Given the description of an element on the screen output the (x, y) to click on. 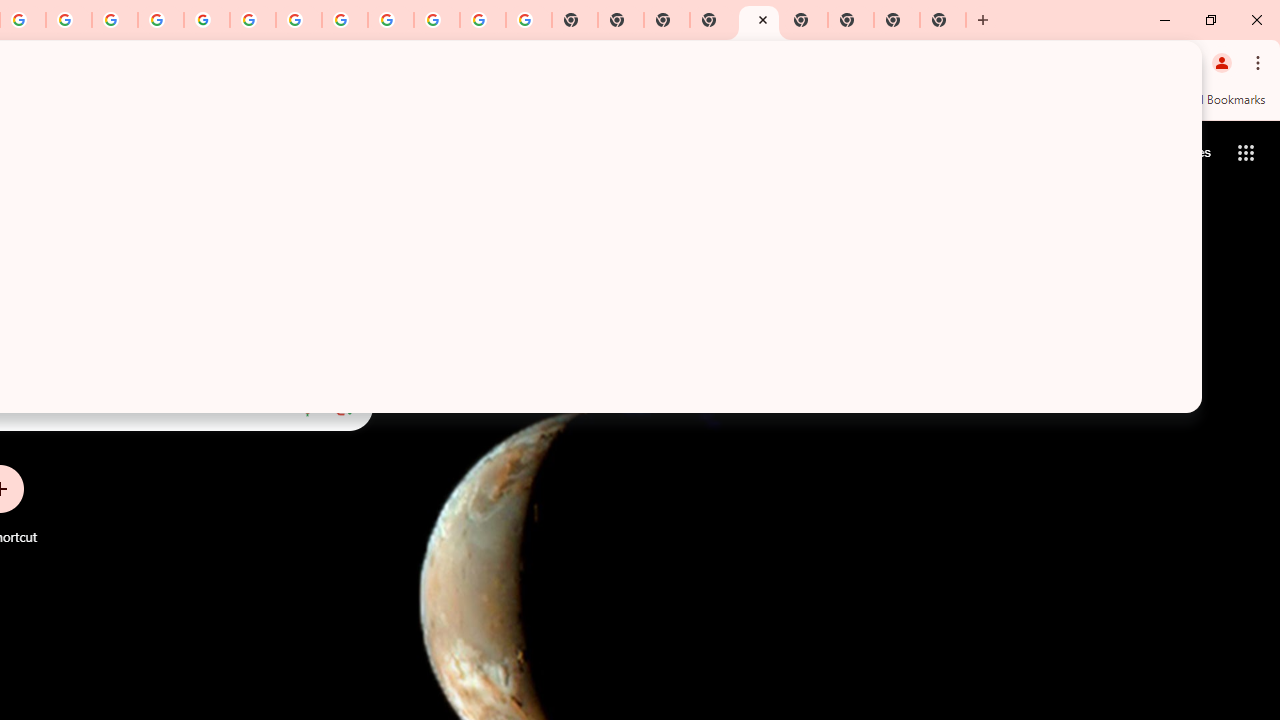
New Tab (943, 20)
New Tab (712, 20)
Privacy Help Center - Policies Help (115, 20)
